Given the description of an element on the screen output the (x, y) to click on. 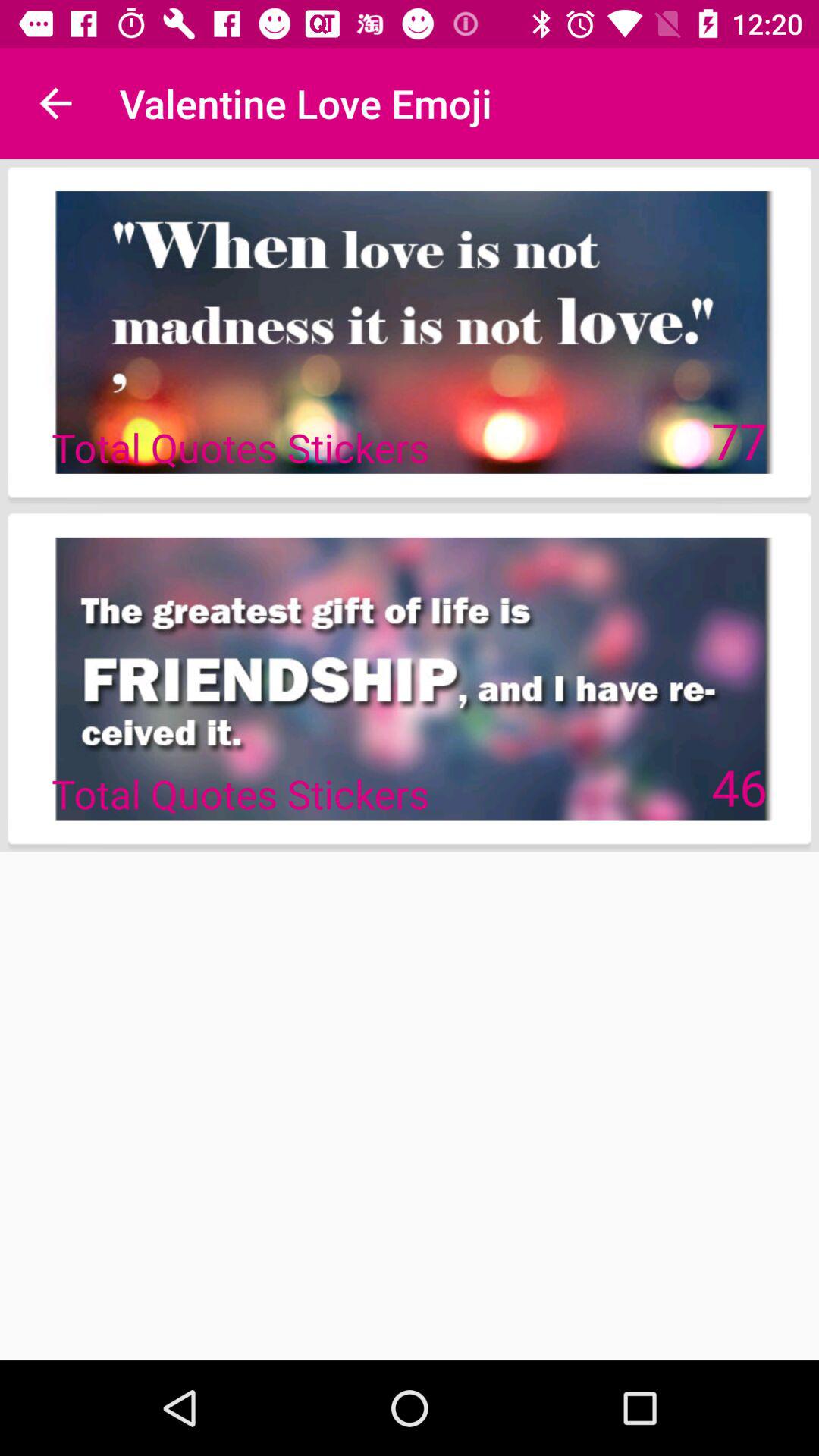
launch the item next to the valentine love emoji item (55, 103)
